Given the description of an element on the screen output the (x, y) to click on. 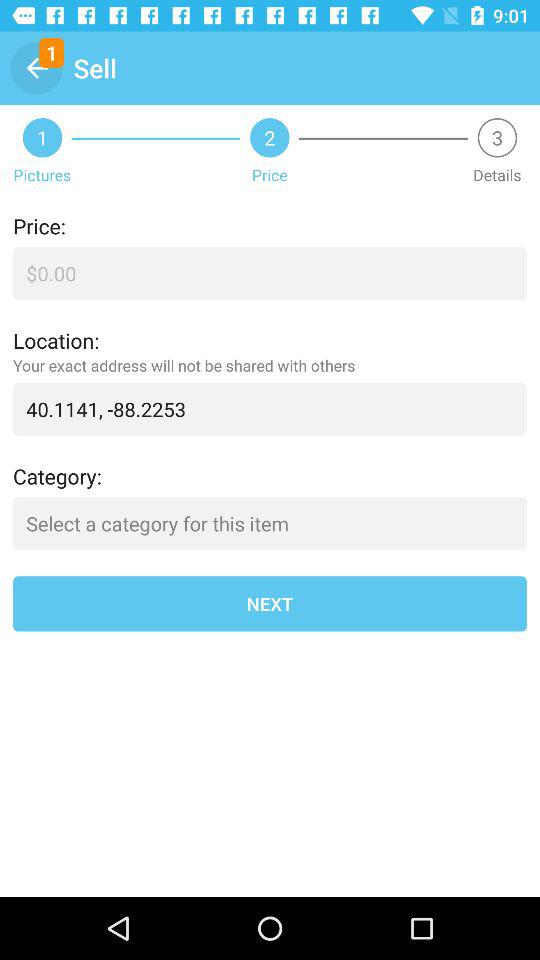
turn off 40 1141 88 (269, 408)
